Given the description of an element on the screen output the (x, y) to click on. 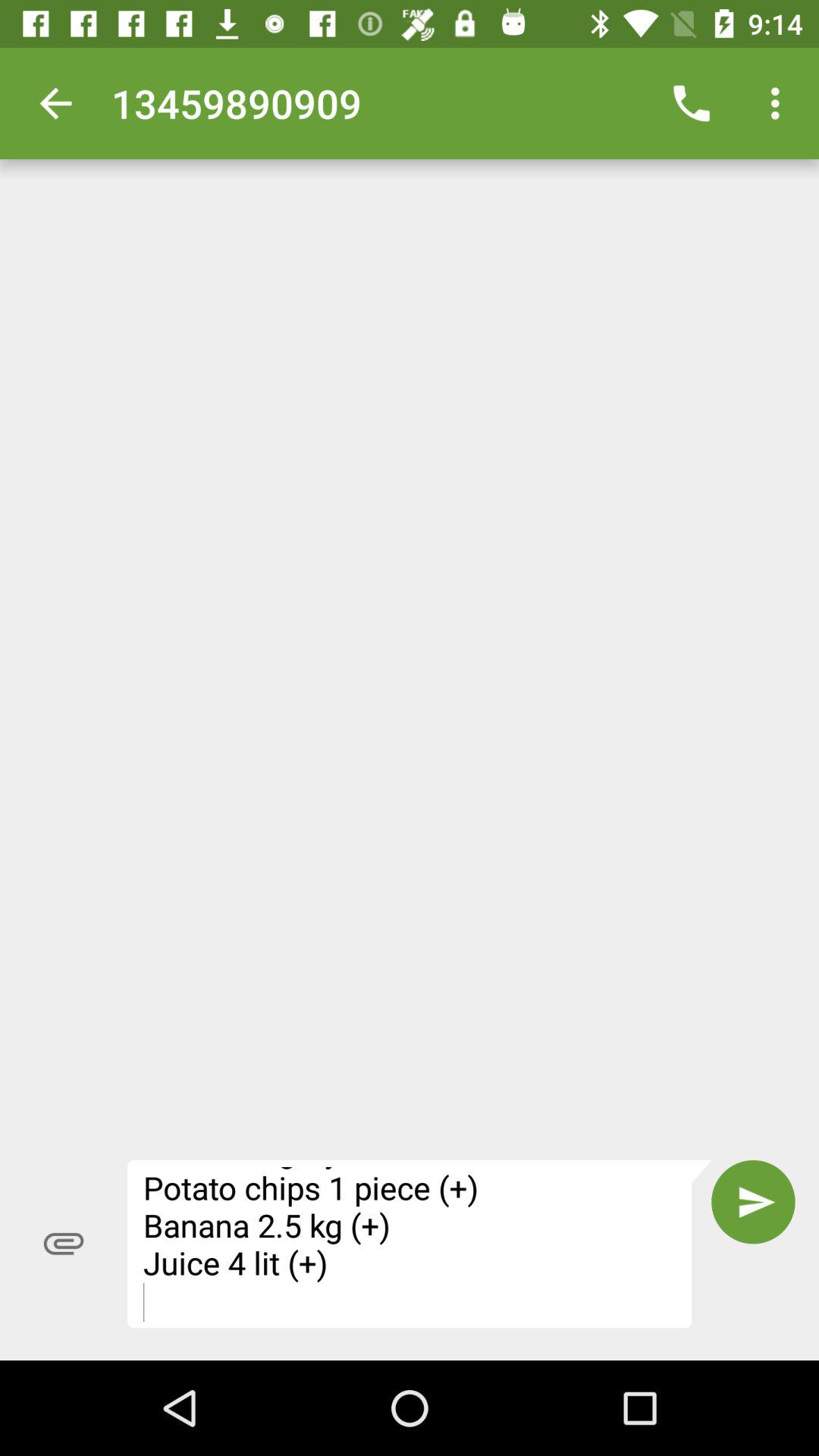
select icon to the right of 13459890909 (691, 103)
